Given the description of an element on the screen output the (x, y) to click on. 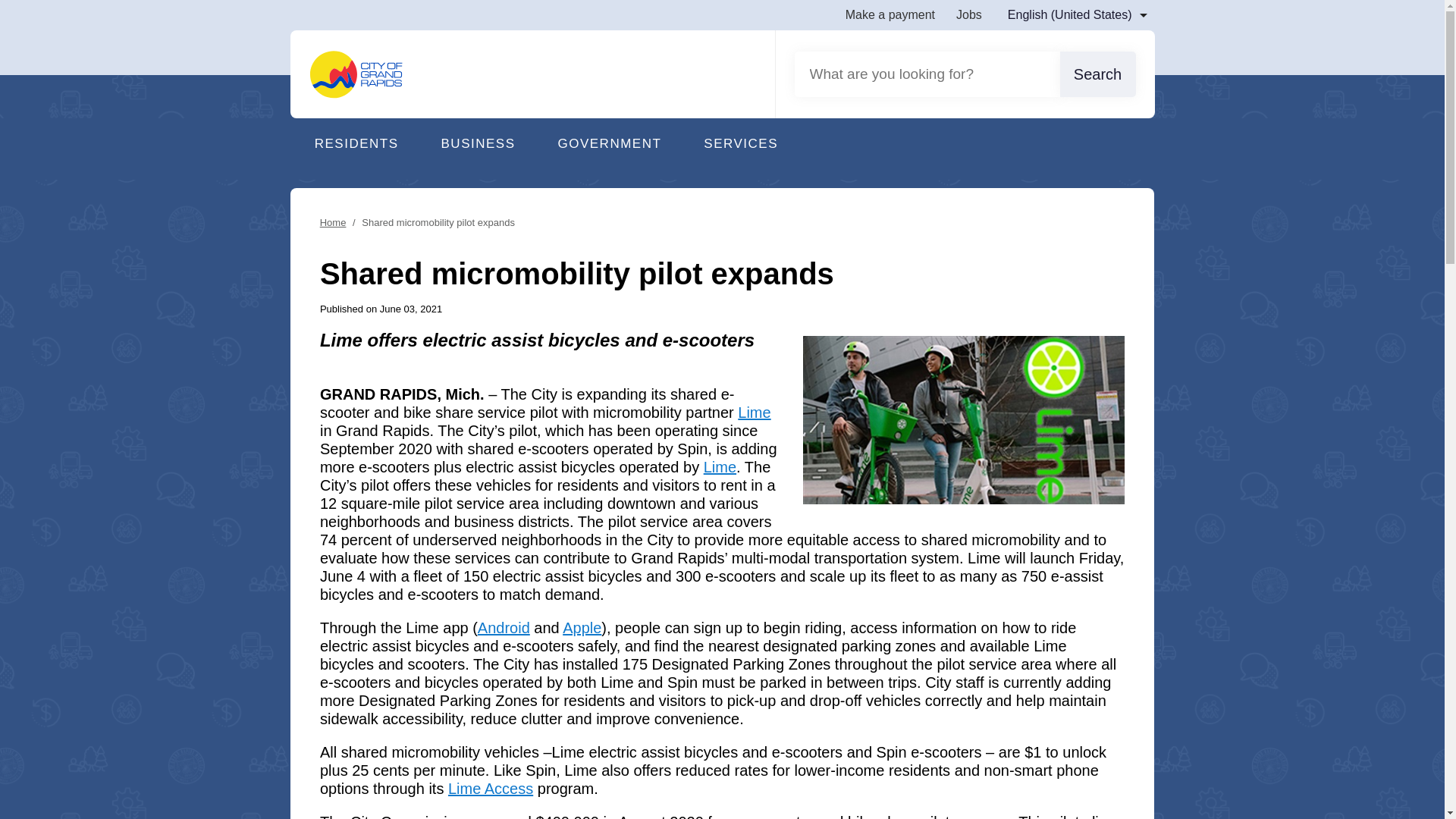
Jobs (968, 14)
RESIDENTS (352, 148)
Make a payment (889, 14)
Search (1097, 74)
Search (1097, 74)
Search (1097, 74)
City of Grand Rapids, MI - Home - Logo (356, 73)
